Given the description of an element on the screen output the (x, y) to click on. 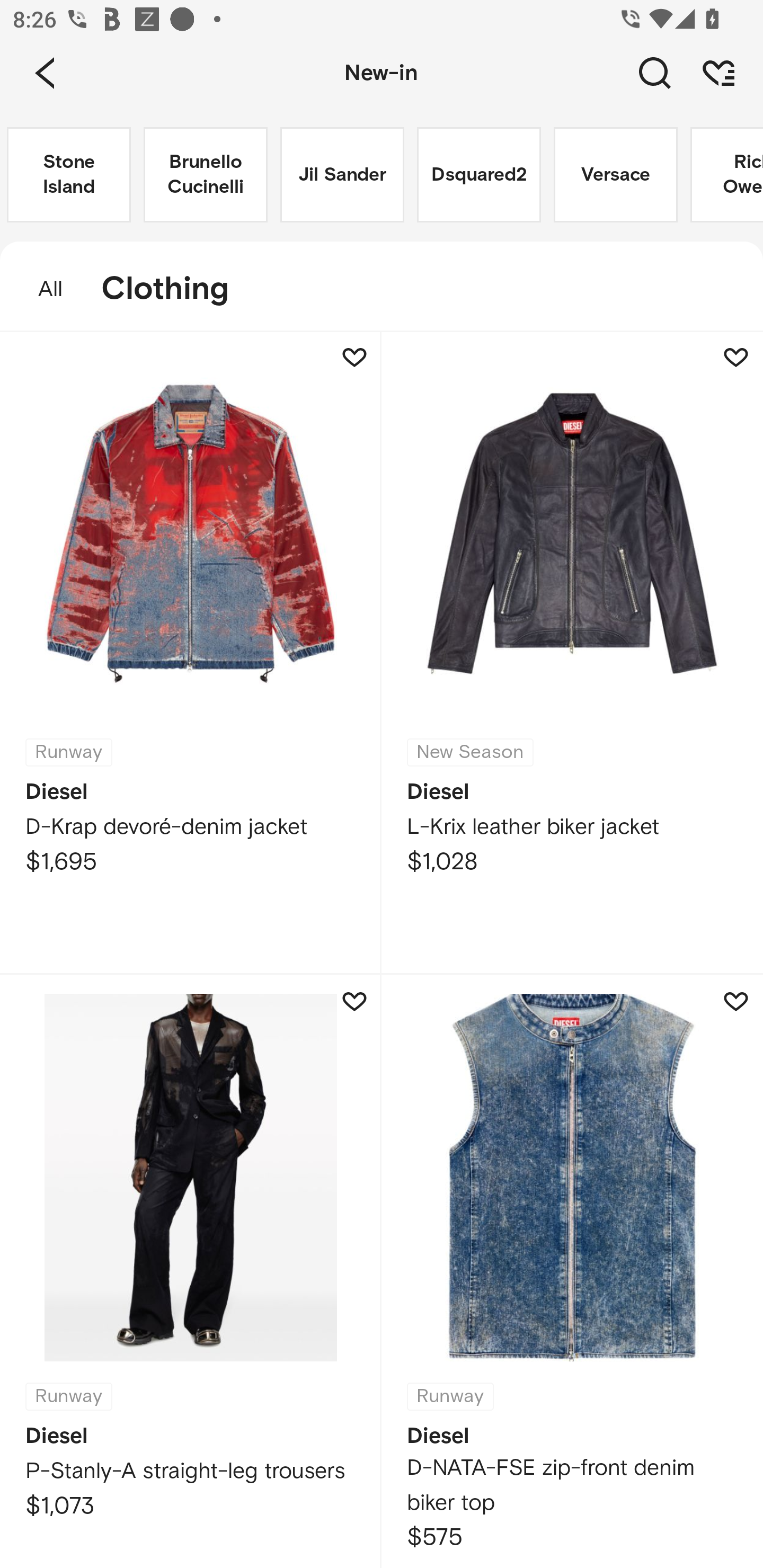
Stone Island (68, 174)
Brunello Cucinelli (205, 174)
Jil Sander (342, 174)
Dsquared2 (478, 174)
Versace (615, 174)
All (40, 288)
Clothing (174, 288)
Runway Diesel D-Krap devoré-denim jacket $1,695 (190, 652)
